Given the description of an element on the screen output the (x, y) to click on. 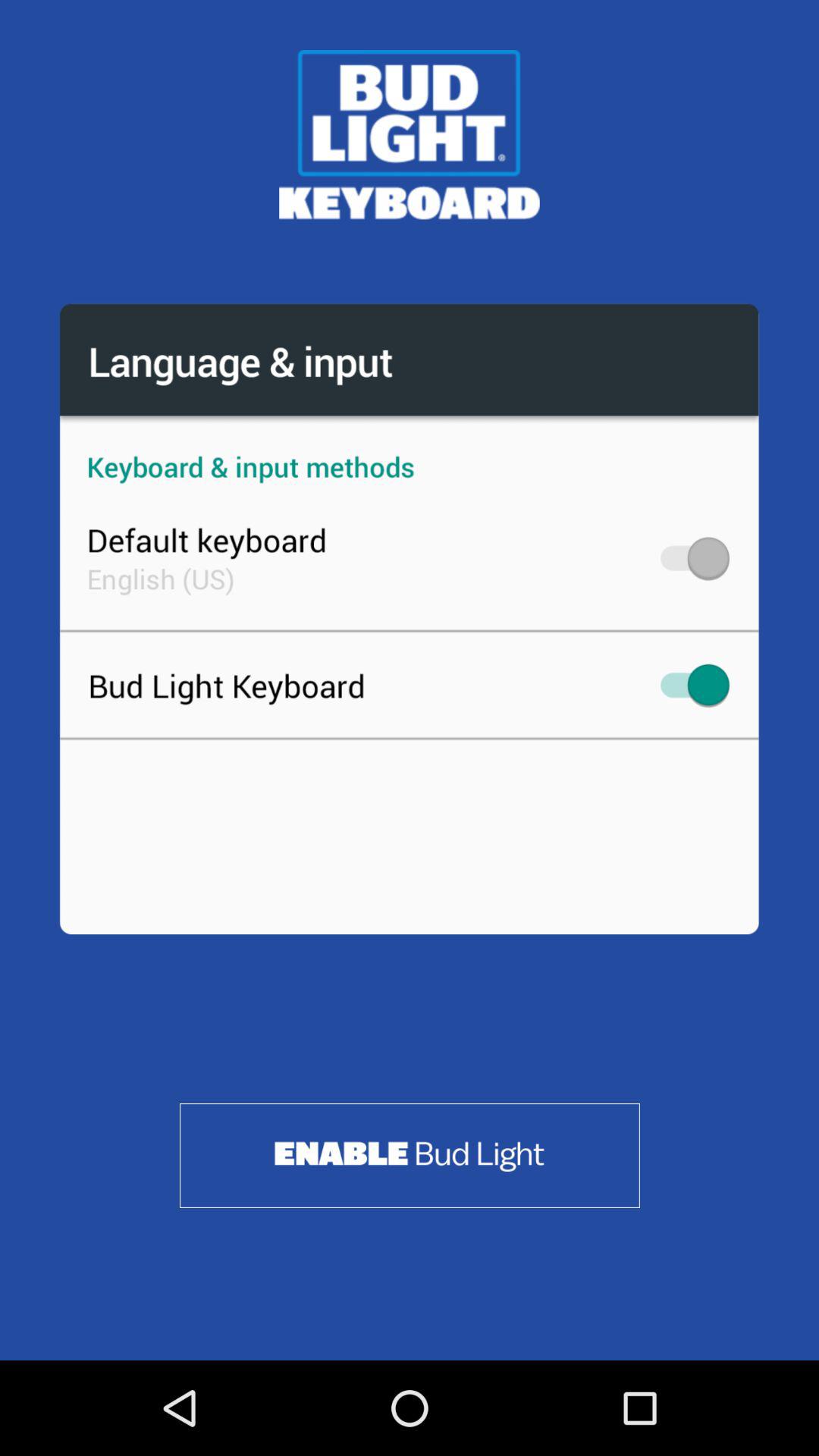
enable bud light keyboard (409, 1155)
